Given the description of an element on the screen output the (x, y) to click on. 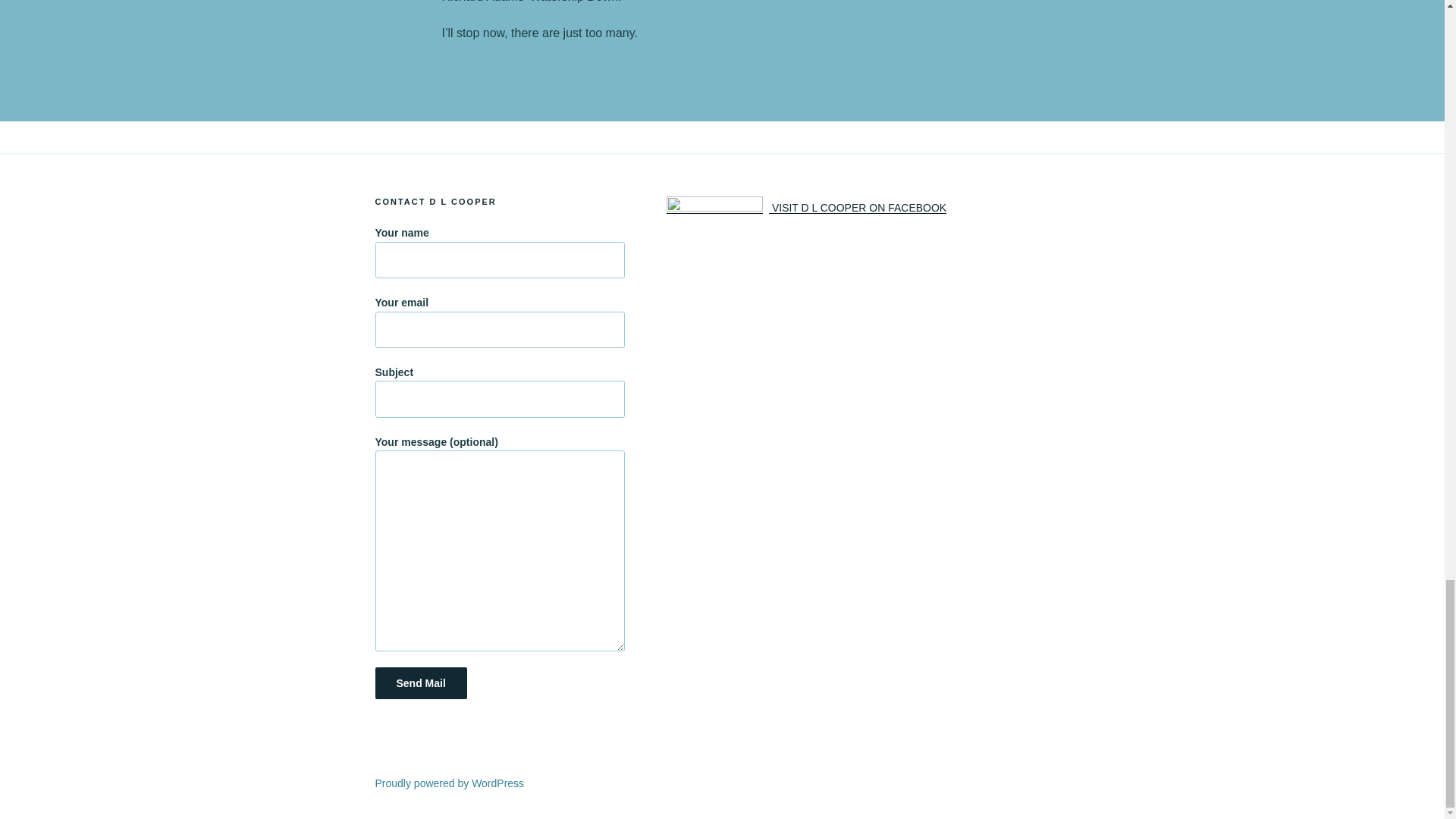
Proudly powered by WordPress (449, 783)
Send Mail (419, 683)
Send Mail (419, 683)
   VISIT D L COOPER ON FACEBOOK (806, 207)
